Given the description of an element on the screen output the (x, y) to click on. 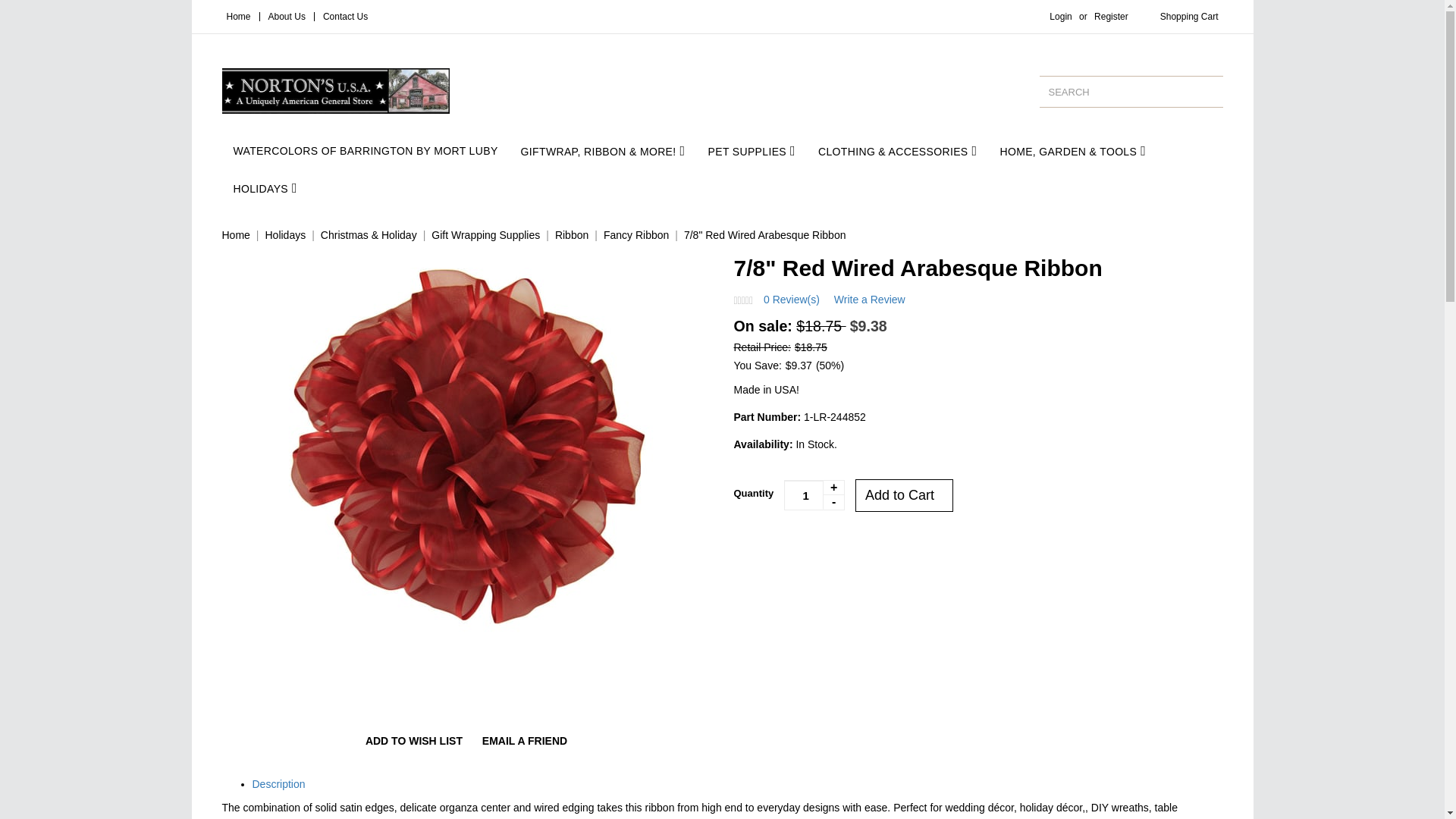
Home (237, 16)
Shopping Cart (1189, 16)
Register (1110, 16)
1 (814, 494)
WATERCOLORS OF BARRINGTON BY MORT LUBY (364, 150)
Login (1060, 16)
About Us (286, 16)
PET SUPPLIES (750, 150)
HOLIDAYS (264, 188)
Home (234, 234)
Contact Us (345, 16)
